Given the description of an element on the screen output the (x, y) to click on. 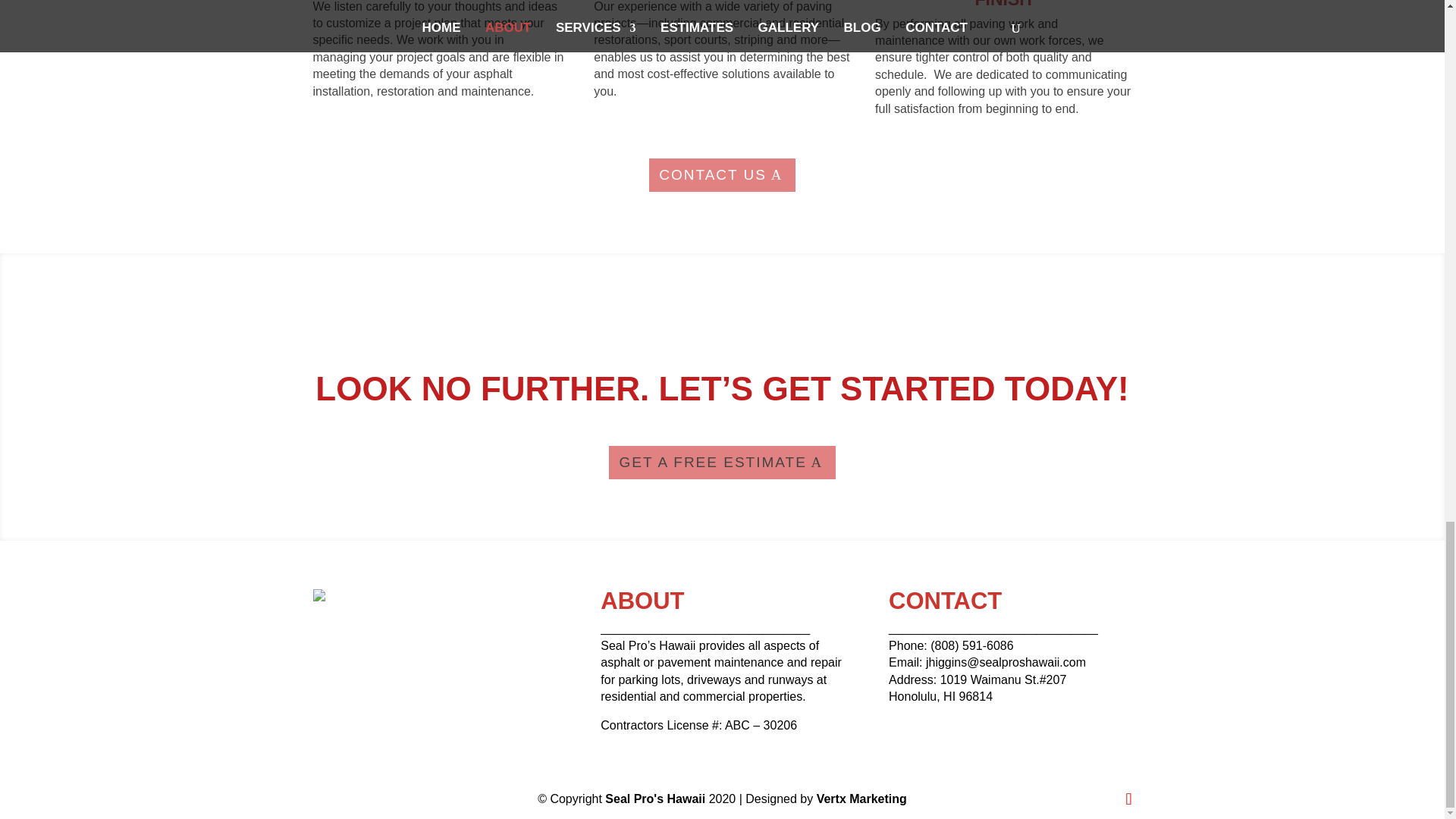
Seal Pro's Hawaii (656, 798)
Vertx Marketing (861, 798)
GET A FREE ESTIMATE (721, 462)
CONTACT US (721, 174)
